Given the description of an element on the screen output the (x, y) to click on. 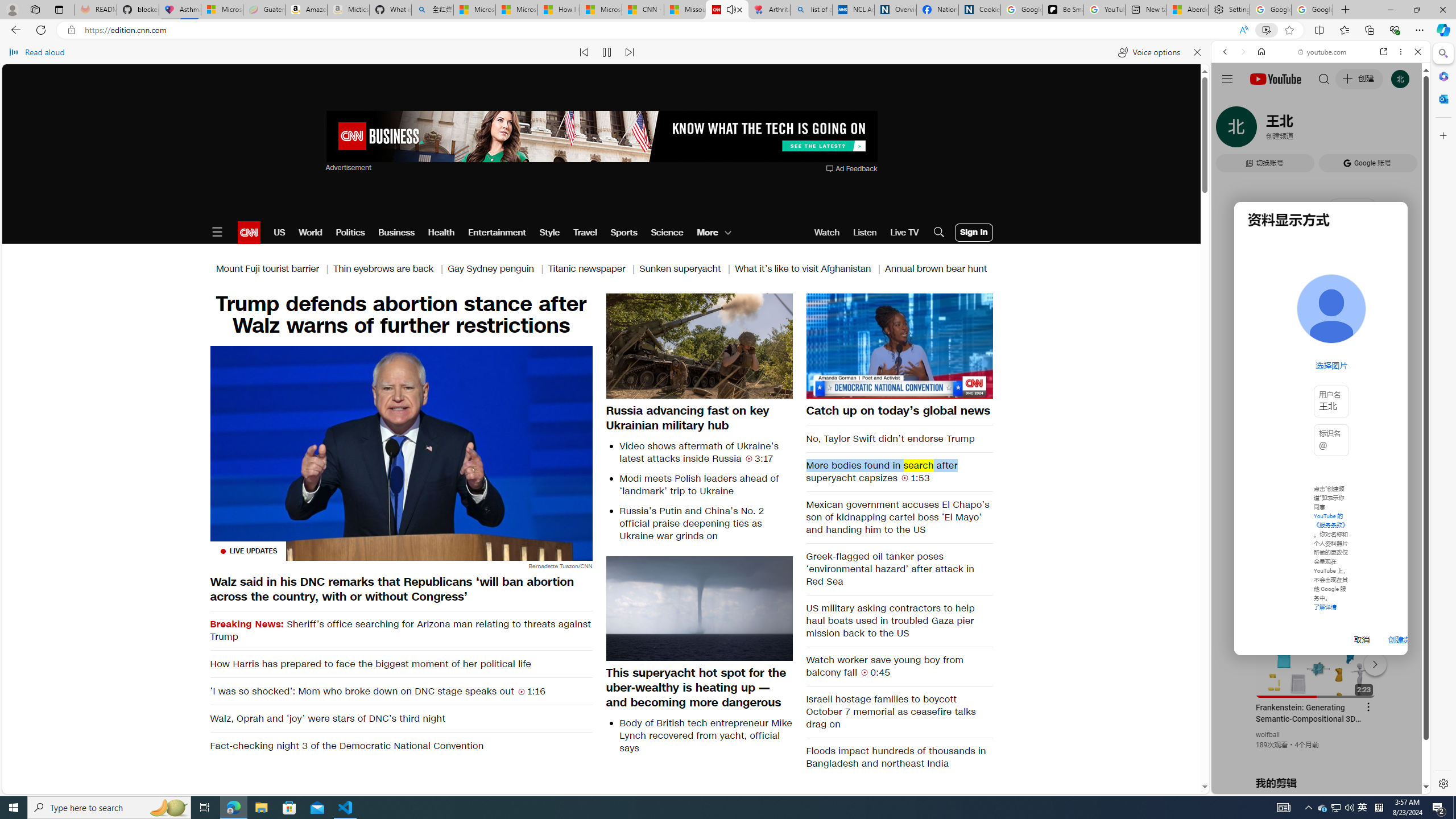
Close read aloud (1196, 52)
Russia advancing fast on key Ukrainian military hub (699, 417)
Read next paragraph (628, 52)
Cookies (979, 9)
